Given the description of an element on the screen output the (x, y) to click on. 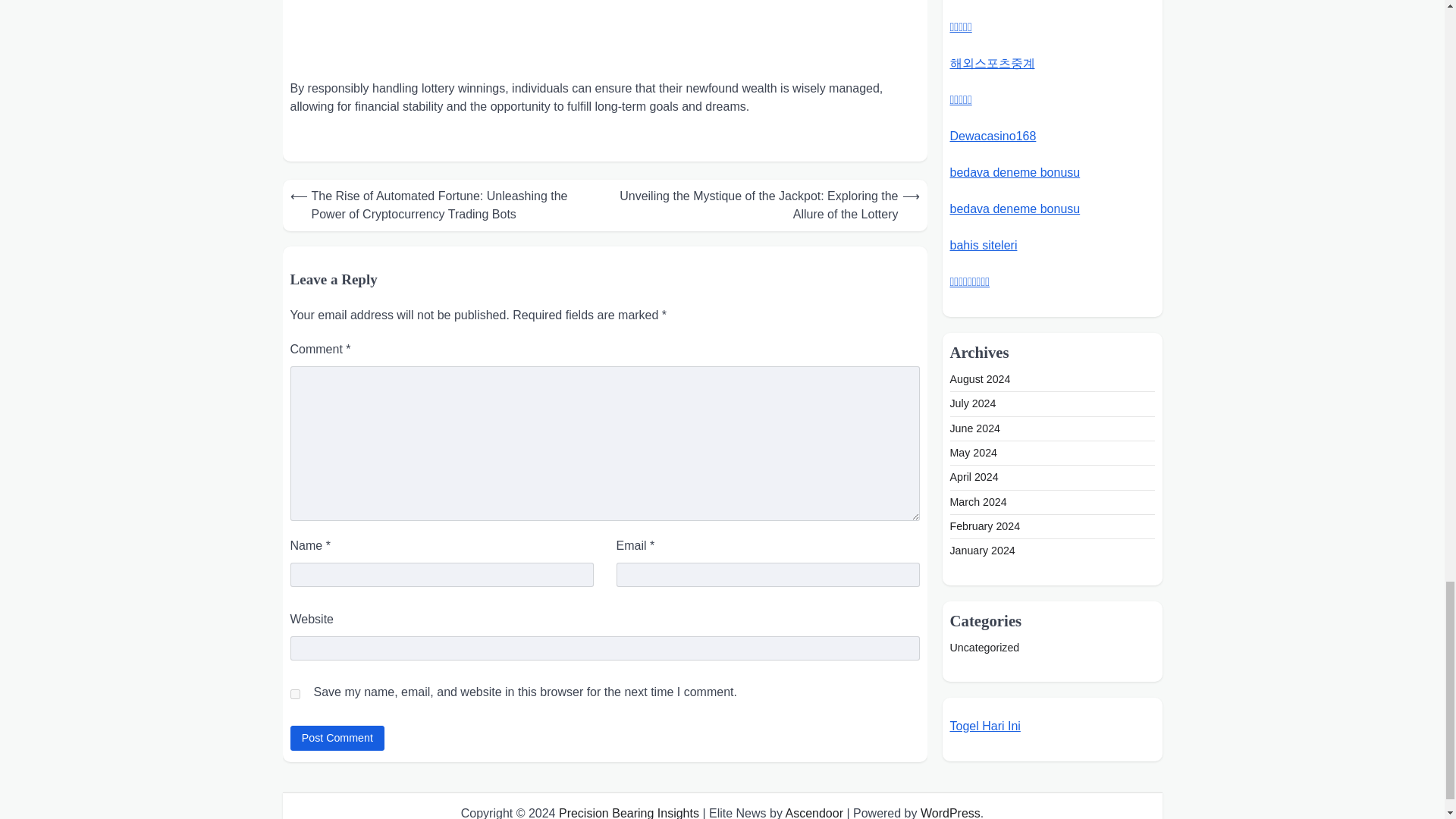
yes (294, 694)
Post Comment (336, 738)
Post Comment (336, 738)
